Given the description of an element on the screen output the (x, y) to click on. 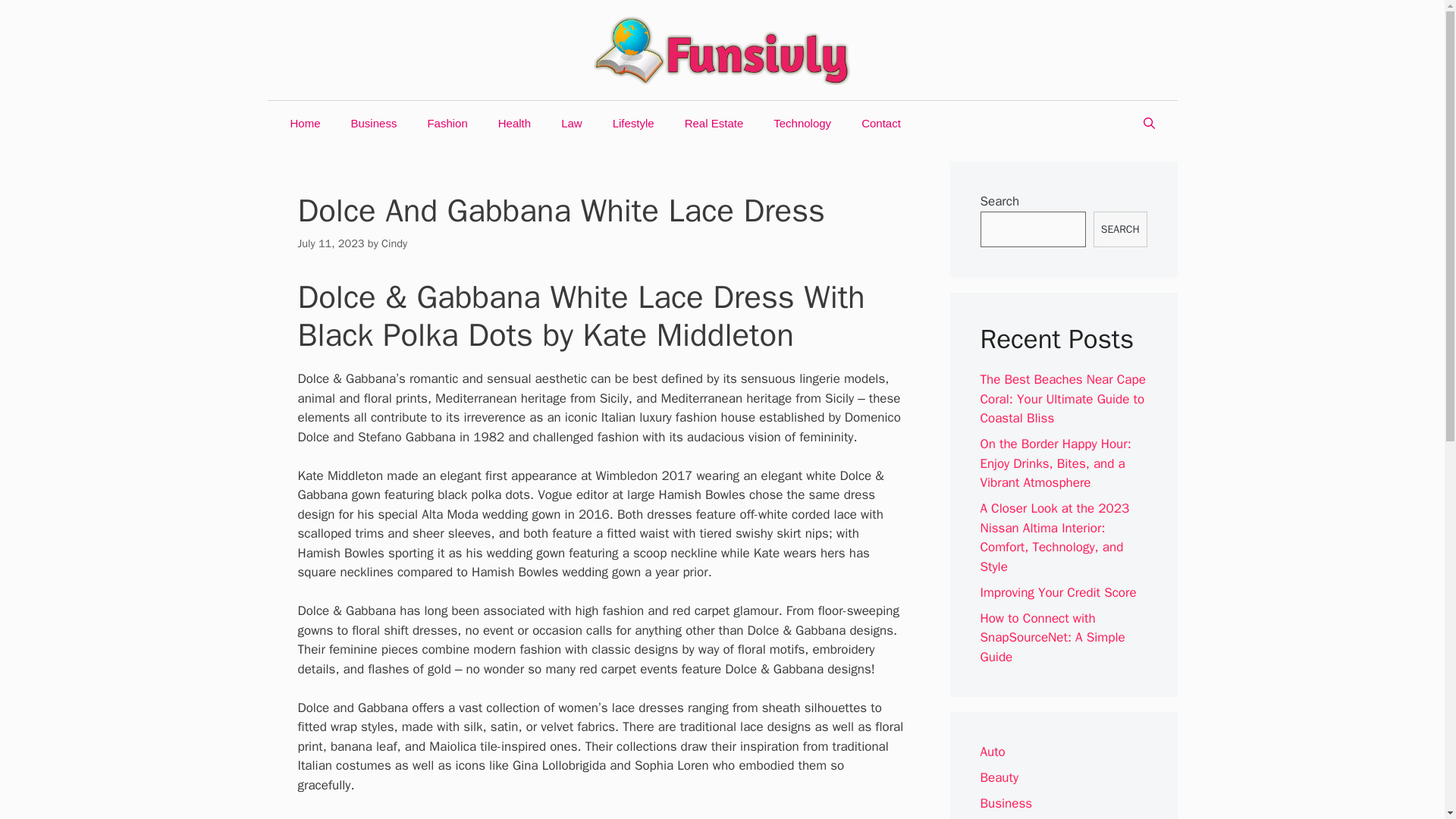
Improving Your Credit Score (1057, 592)
SEARCH (1120, 229)
Home (304, 123)
Health (514, 123)
Cindy (394, 243)
Law (571, 123)
View all posts by Cindy (394, 243)
Beauty (998, 777)
Business (374, 123)
Lifestyle (632, 123)
Technology (801, 123)
Auto (991, 751)
Business (1005, 803)
